Given the description of an element on the screen output the (x, y) to click on. 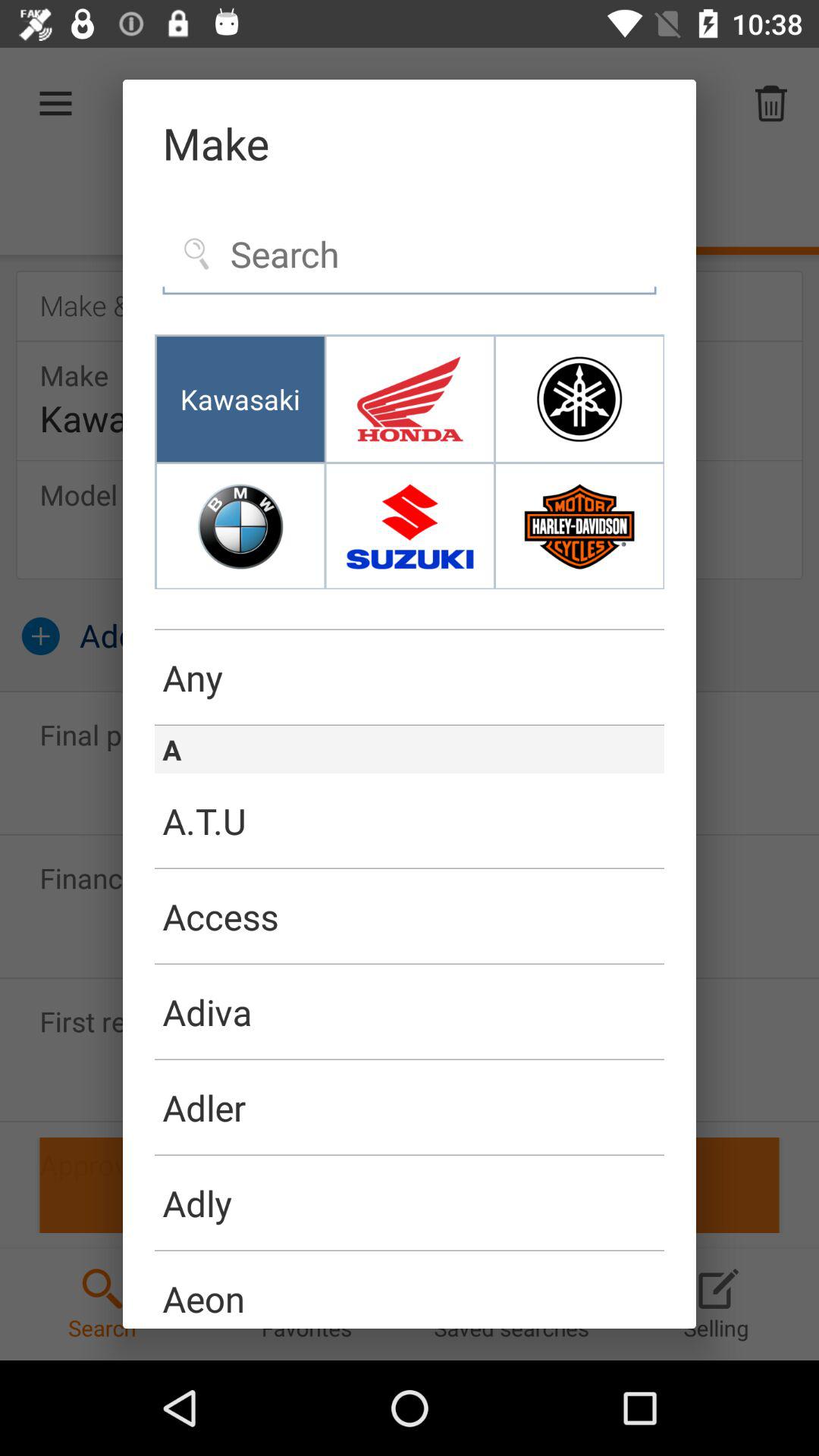
search (409, 254)
